Given the description of an element on the screen output the (x, y) to click on. 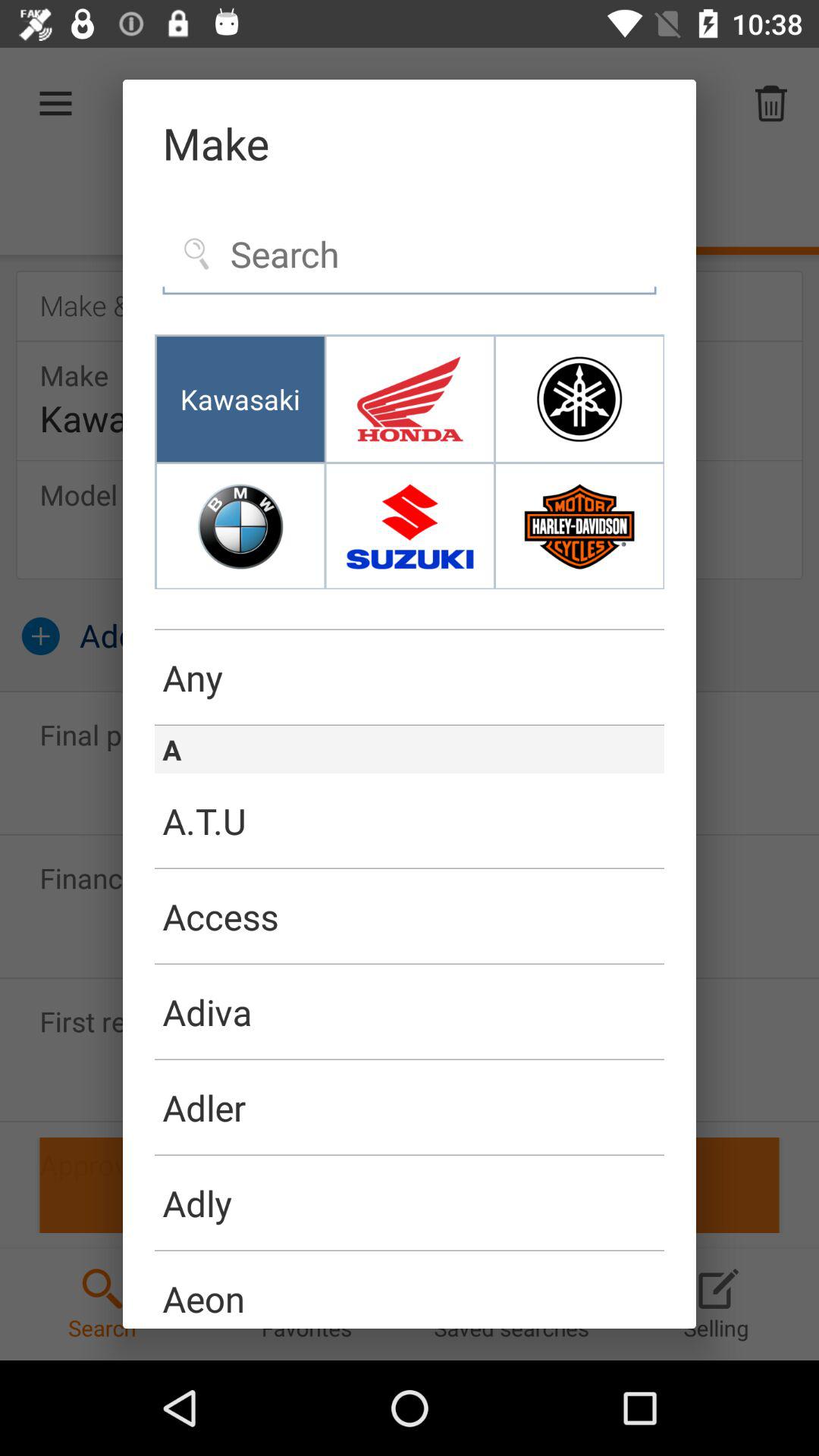
search (409, 254)
